Given the description of an element on the screen output the (x, y) to click on. 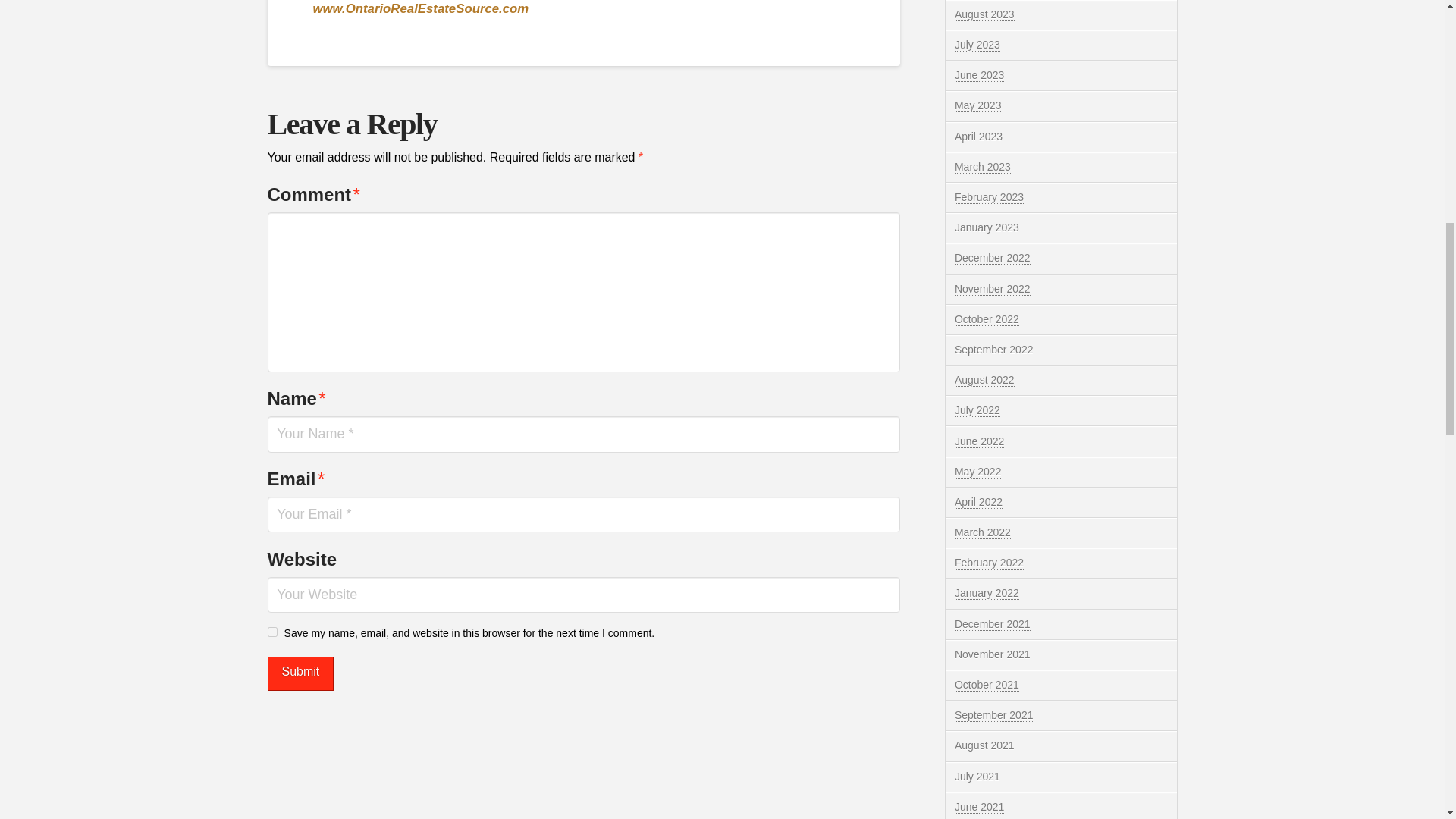
Submit (299, 673)
yes (271, 632)
